Given the description of an element on the screen output the (x, y) to click on. 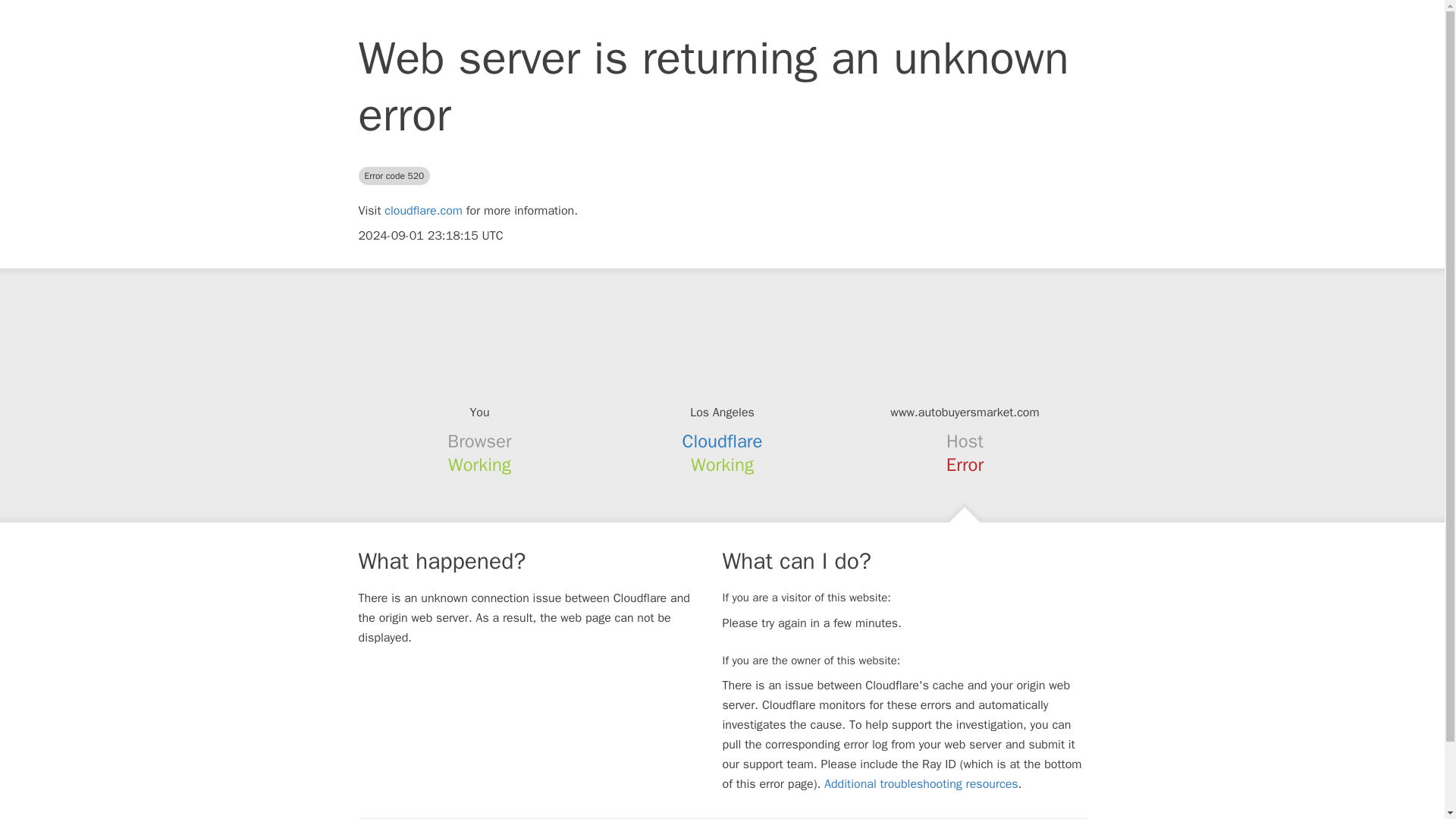
cloudflare.com (423, 210)
Additional troubleshooting resources (920, 783)
Cloudflare (722, 440)
